Given the description of an element on the screen output the (x, y) to click on. 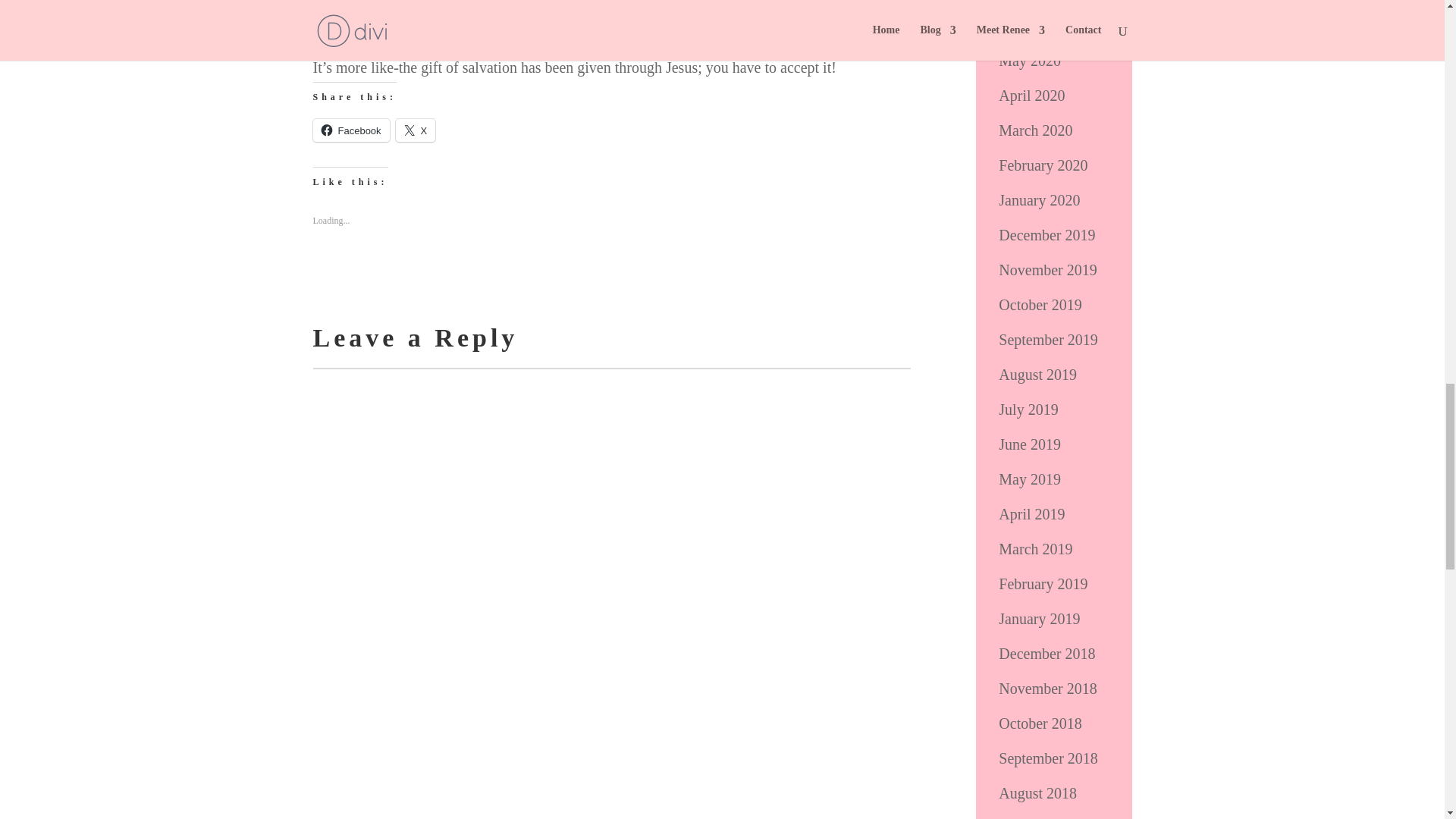
Click to share on X (415, 129)
Click to share on Facebook (350, 129)
Facebook (350, 129)
X (415, 129)
